Given the description of an element on the screen output the (x, y) to click on. 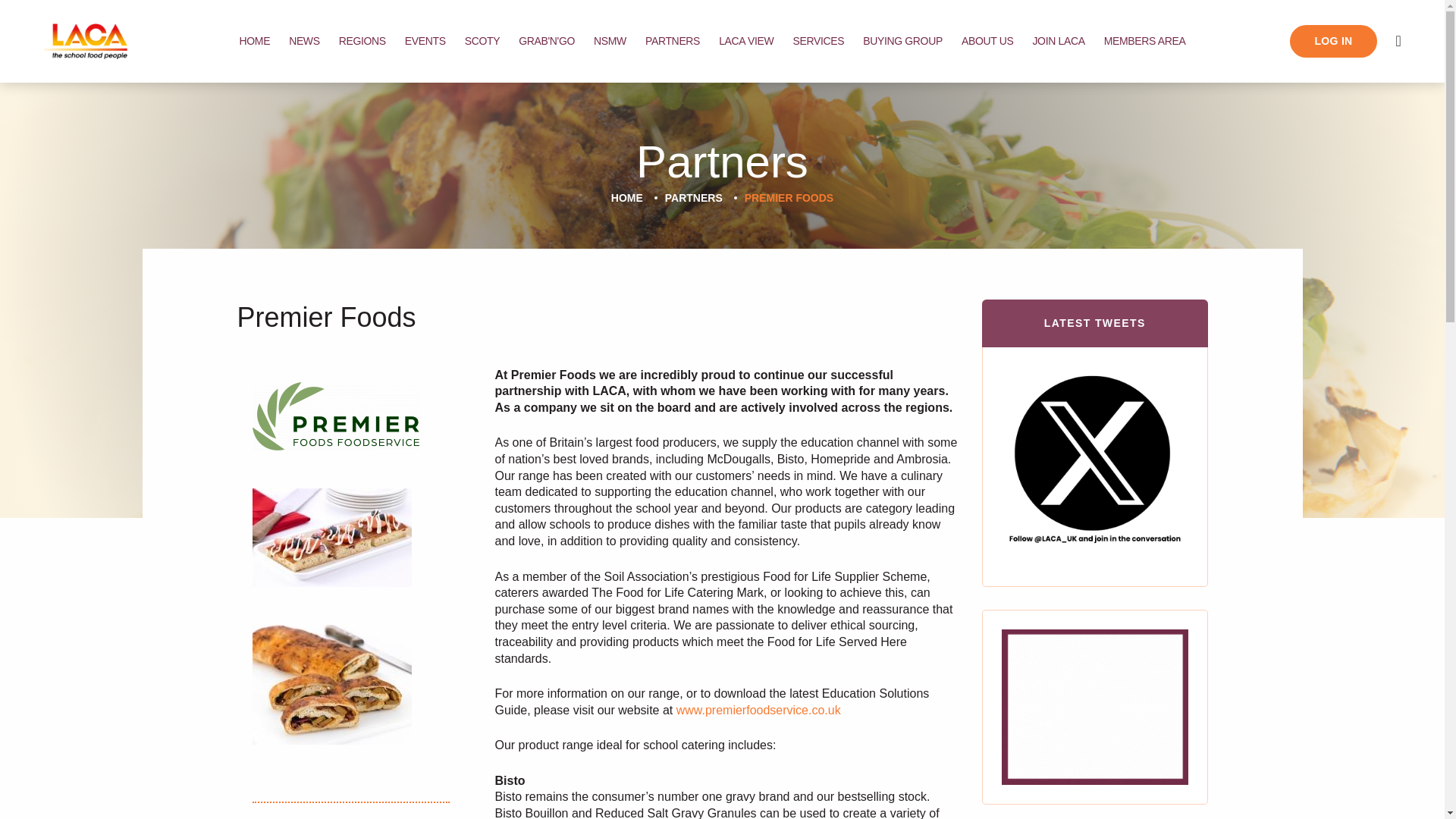
BUYING GROUP (902, 40)
Search (1398, 40)
ABOUT US (986, 40)
EVENTS (424, 40)
REGIONS (362, 40)
HOME (627, 197)
LOG IN (1332, 41)
MEMBERS AREA (1144, 40)
Search (1398, 40)
JOIN LACA (1058, 40)
www.premierfoodservice.co.uk (759, 709)
PARTNERS (693, 197)
GRAB'N'GO (546, 40)
SERVICES (818, 40)
